Given the description of an element on the screen output the (x, y) to click on. 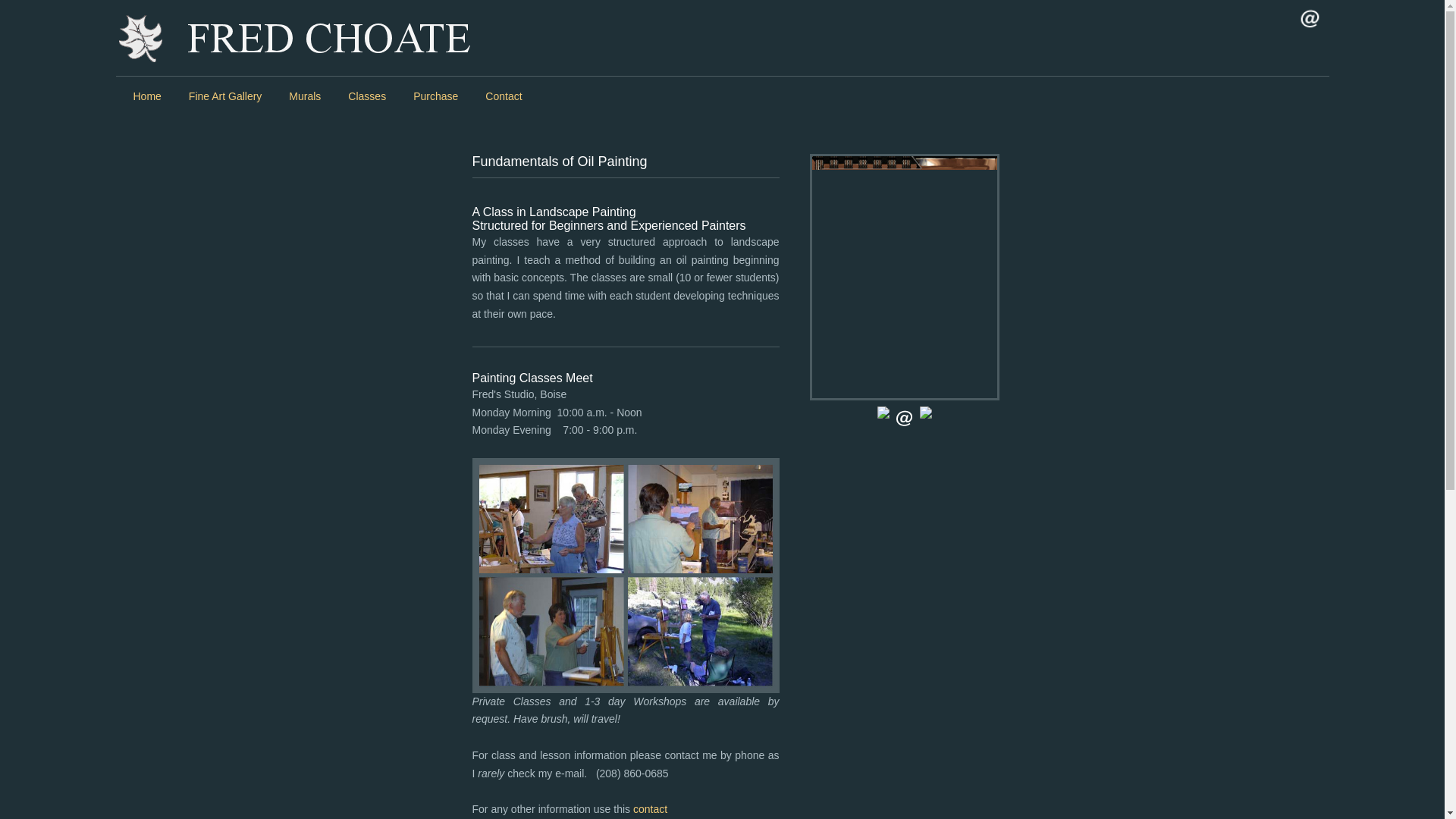
Home (146, 96)
Murals (304, 96)
Fine Art Gallery (224, 96)
Contact (503, 96)
Purchase (434, 96)
Classes (366, 96)
contact (649, 808)
